Given the description of an element on the screen output the (x, y) to click on. 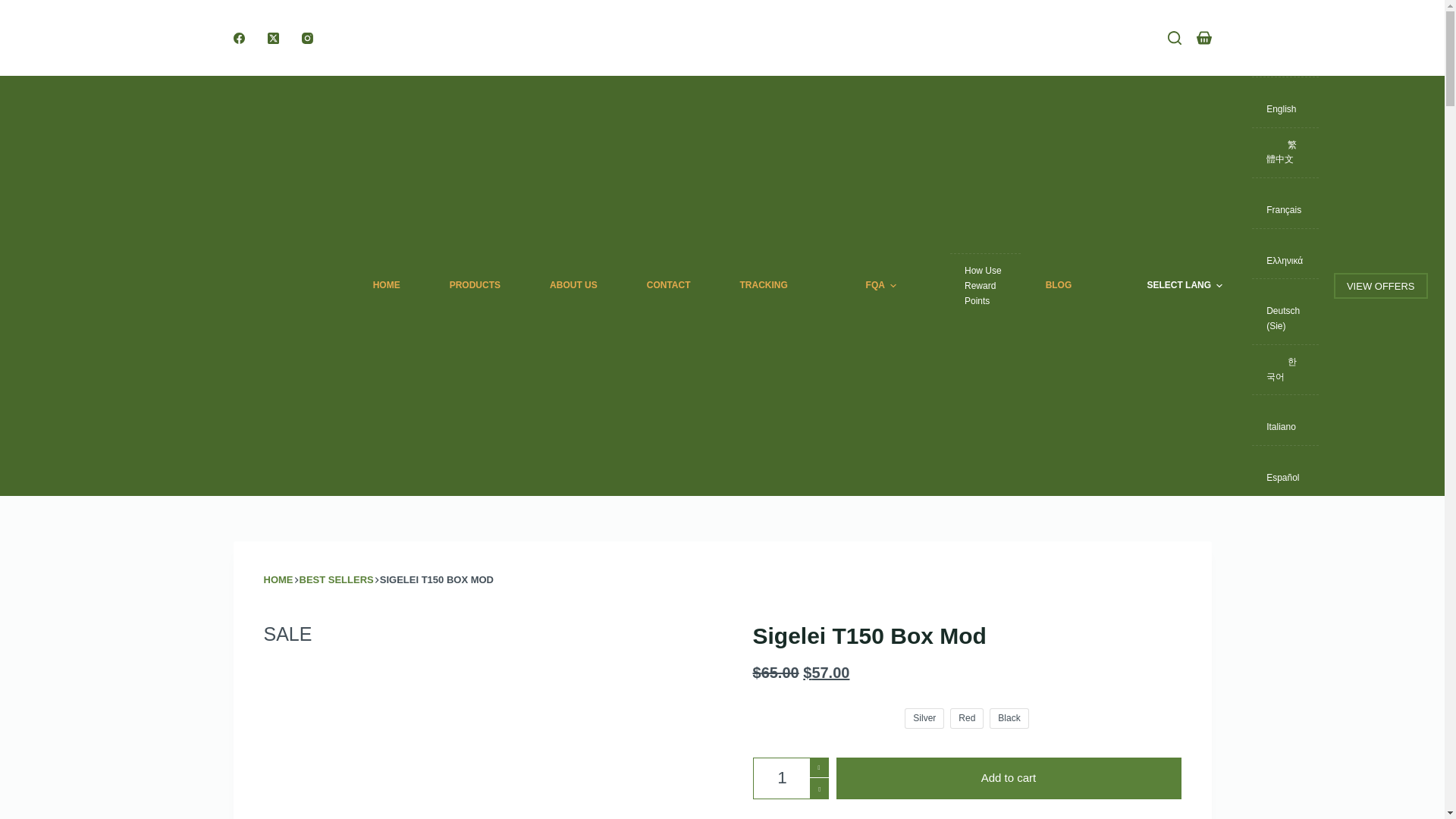
English (1276, 92)
1 (790, 778)
Italiano (1276, 410)
Skip to content (15, 7)
